Given the description of an element on the screen output the (x, y) to click on. 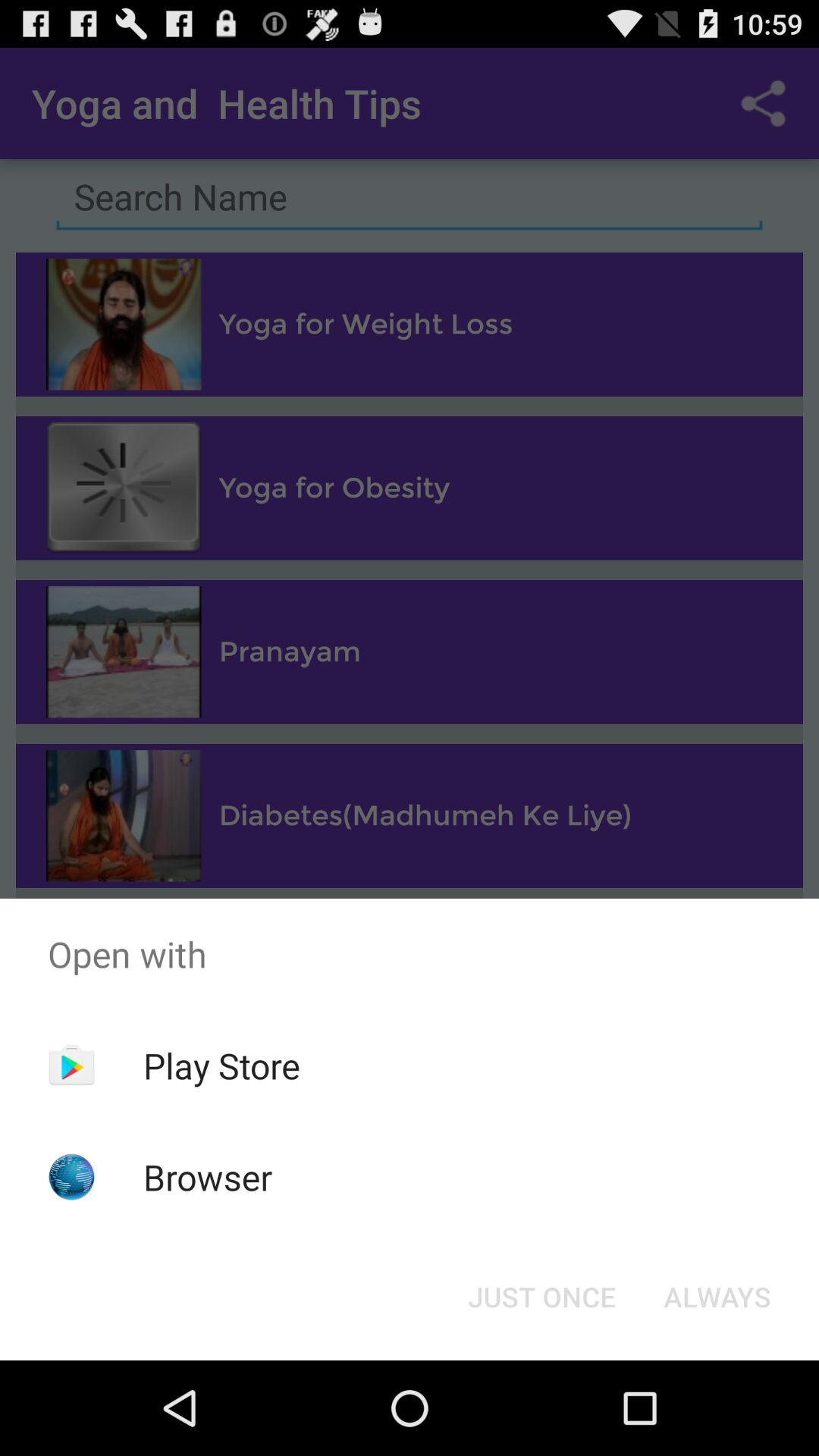
launch the icon below play store item (207, 1176)
